Given the description of an element on the screen output the (x, y) to click on. 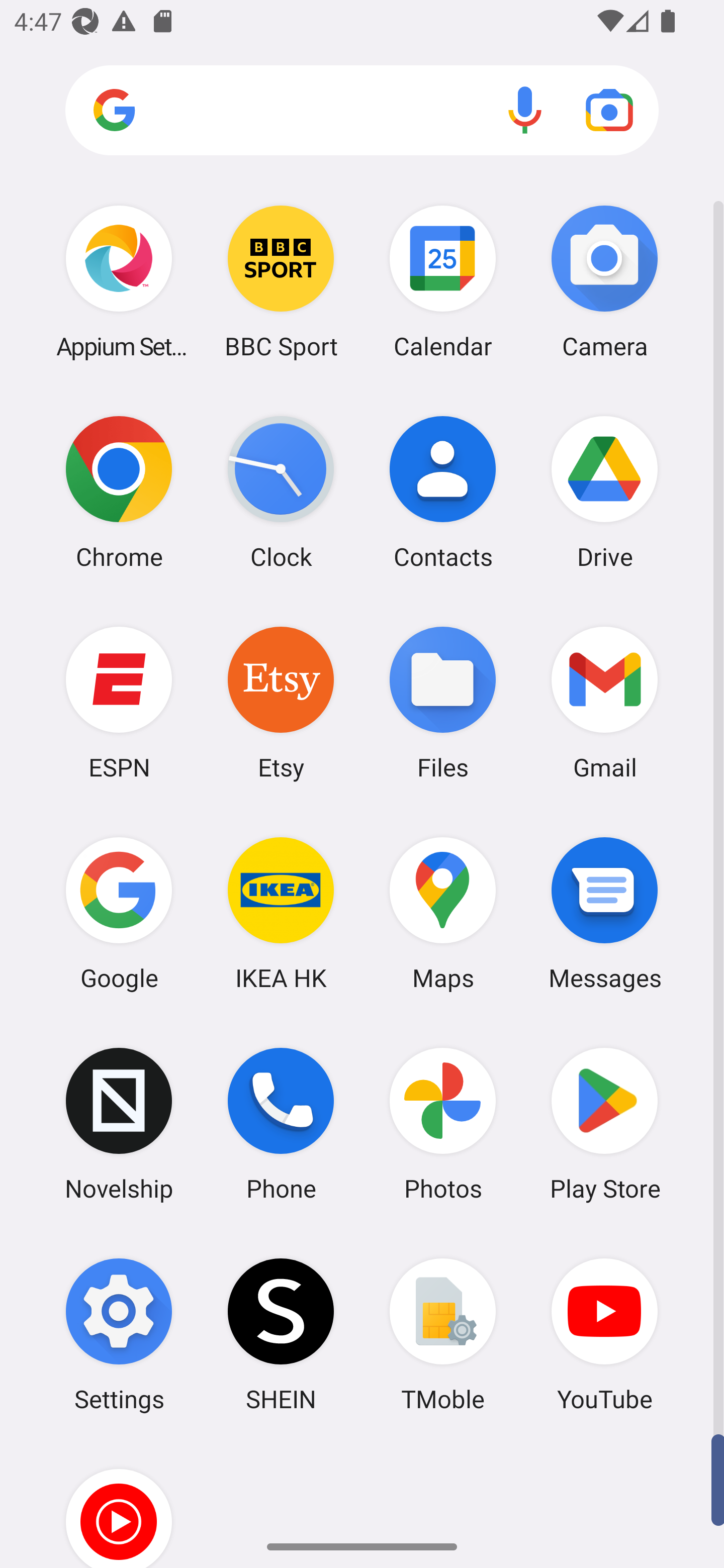
Search apps, web and more (361, 110)
Voice search (524, 109)
Google Lens (608, 109)
Appium Settings (118, 281)
BBC Sport (280, 281)
Calendar (443, 281)
Camera (604, 281)
Chrome (118, 492)
Clock (280, 492)
Contacts (443, 492)
Drive (604, 492)
ESPN (118, 702)
Etsy (280, 702)
Files (443, 702)
Gmail (604, 702)
Google (118, 913)
IKEA HK (280, 913)
Maps (443, 913)
Messages (604, 913)
Novelship (118, 1124)
Phone (280, 1124)
Photos (443, 1124)
Play Store (604, 1124)
Settings (118, 1334)
SHEIN (280, 1334)
TMoble (443, 1334)
YouTube (604, 1334)
YT Music (118, 1503)
